Given the description of an element on the screen output the (x, y) to click on. 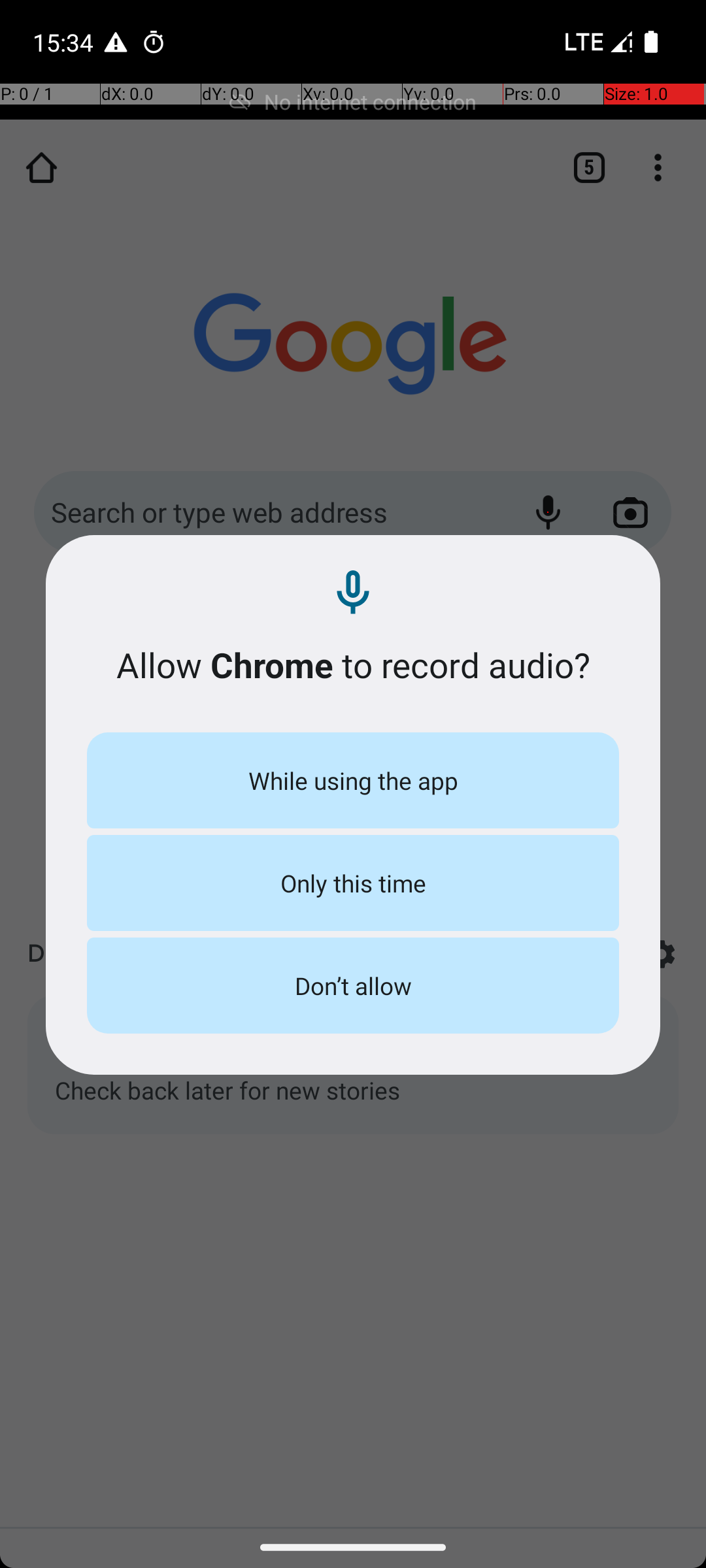
Allow Chrome to record audio? Element type: android.widget.TextView (352, 664)
While using the app Element type: android.widget.Button (352, 780)
Only this time Element type: android.widget.Button (352, 882)
Don’t allow Element type: android.widget.Button (352, 985)
